Given the description of an element on the screen output the (x, y) to click on. 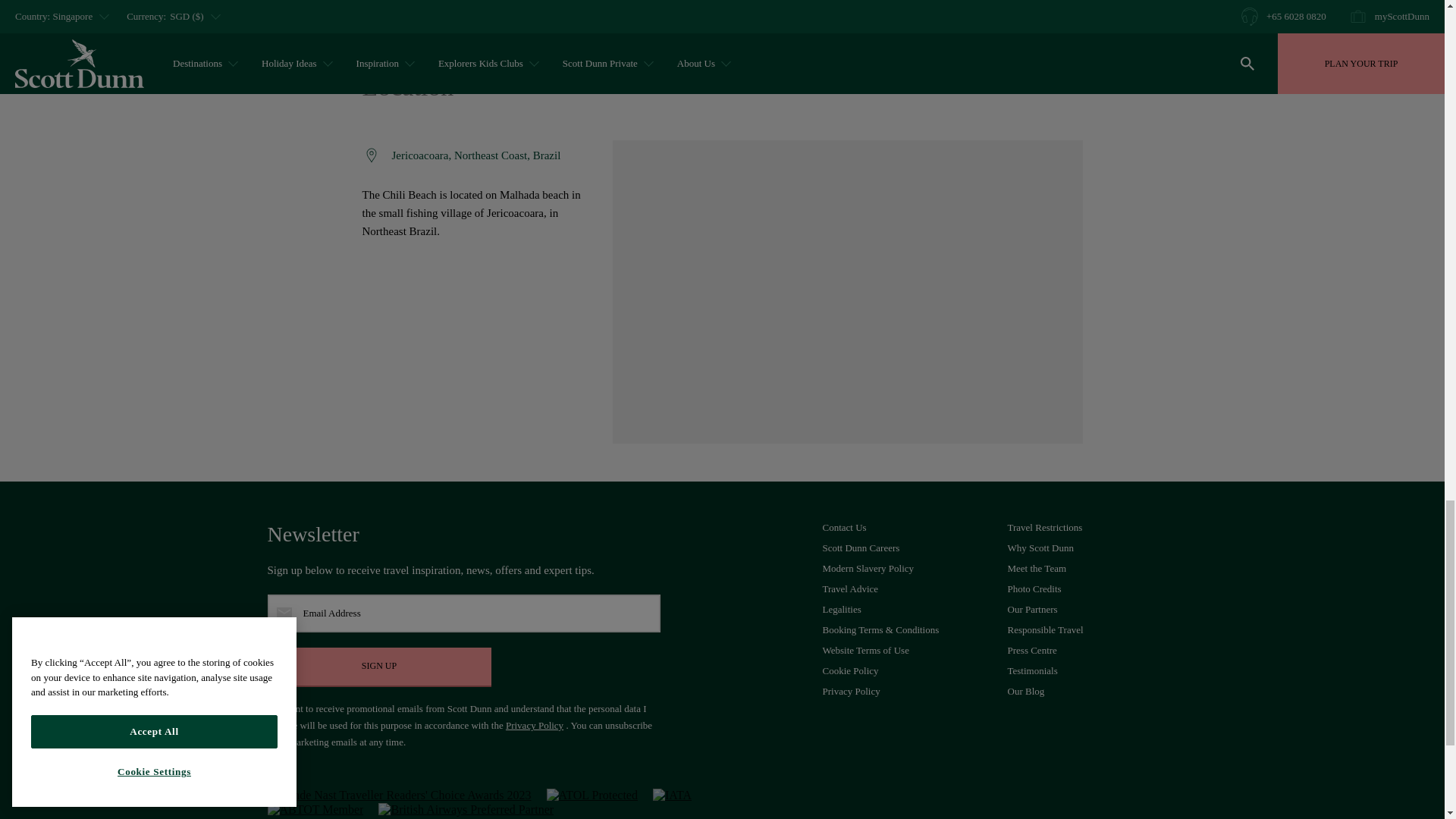
Your email address (463, 613)
